Given the description of an element on the screen output the (x, y) to click on. 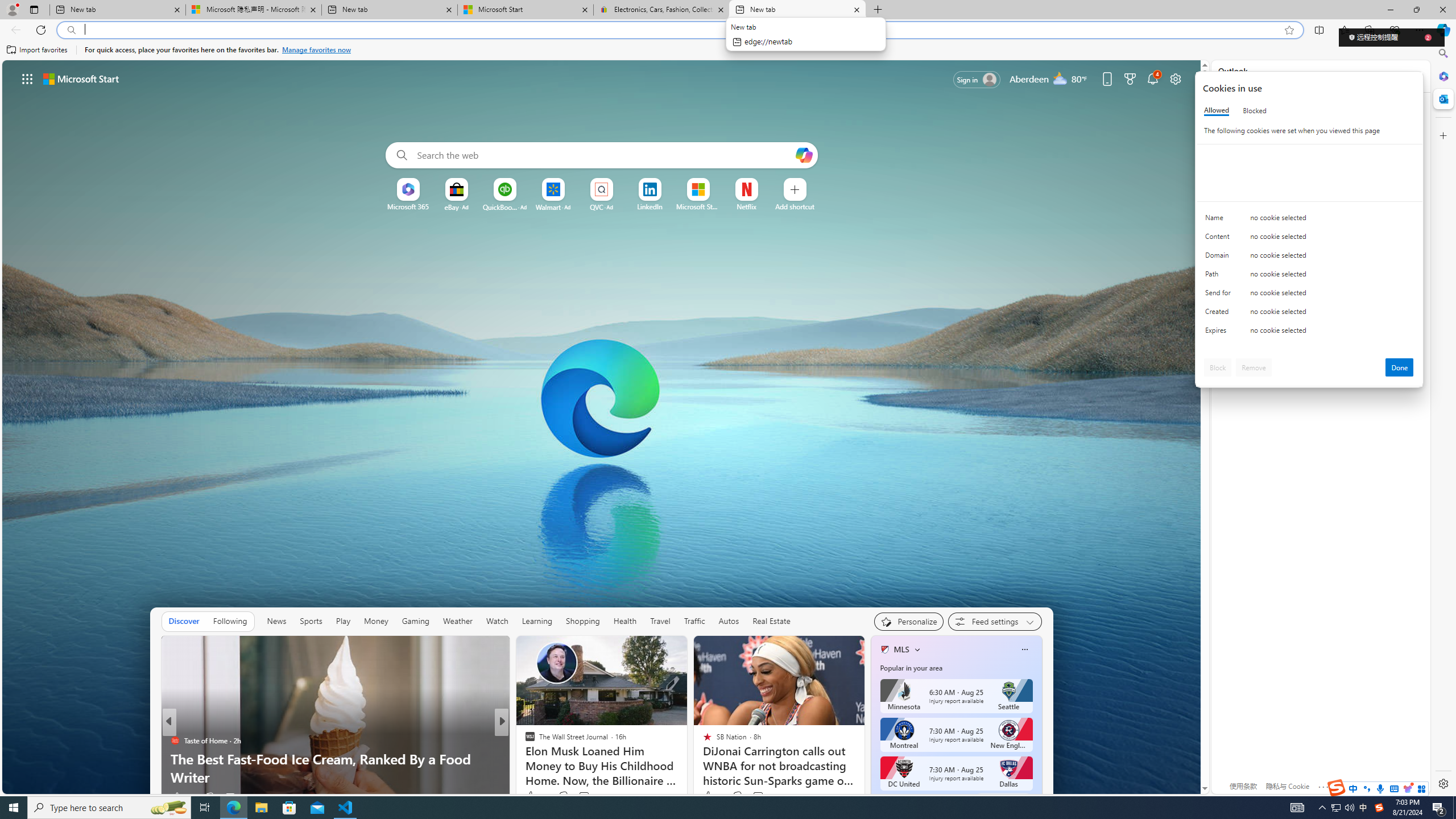
Microsoft start (81, 78)
40 Like (530, 796)
10 Hidden Spotify Features Everyone Should Know About (684, 767)
Mostly cloudy (1059, 78)
Block (1217, 367)
514 Like (532, 796)
193 Like (532, 796)
LinkedIn (649, 206)
109 Like (532, 796)
Sports (310, 621)
Class: c0153 c0157 c0154 (1309, 220)
Created (1219, 313)
